Given the description of an element on the screen output the (x, y) to click on. 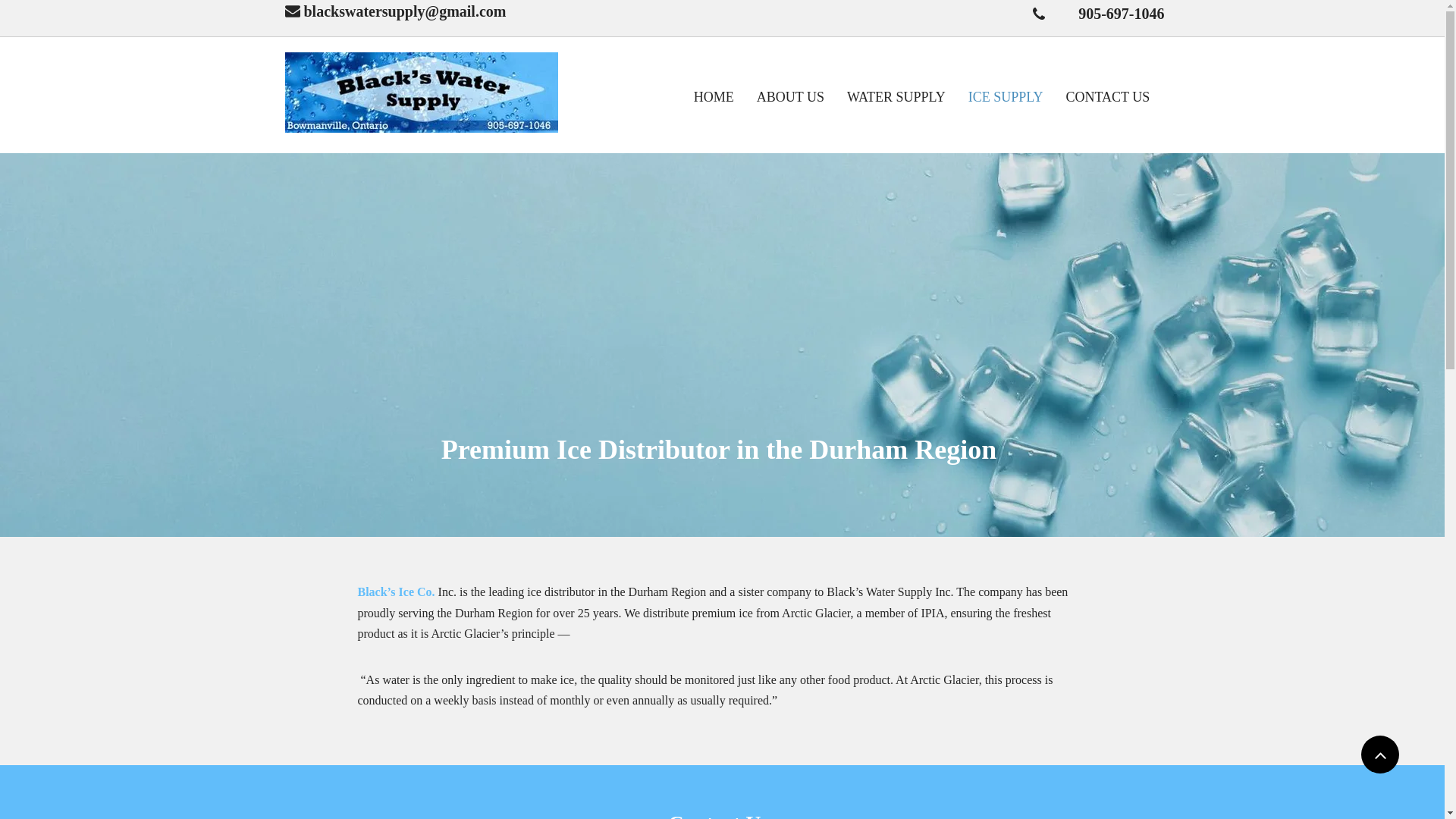
ICE SUPPLY (1005, 98)
HOME (713, 98)
905-697-1046 (1118, 13)
CONTACT US (1107, 98)
ABOUT US (790, 98)
WATER SUPPLY (895, 98)
